Given the description of an element on the screen output the (x, y) to click on. 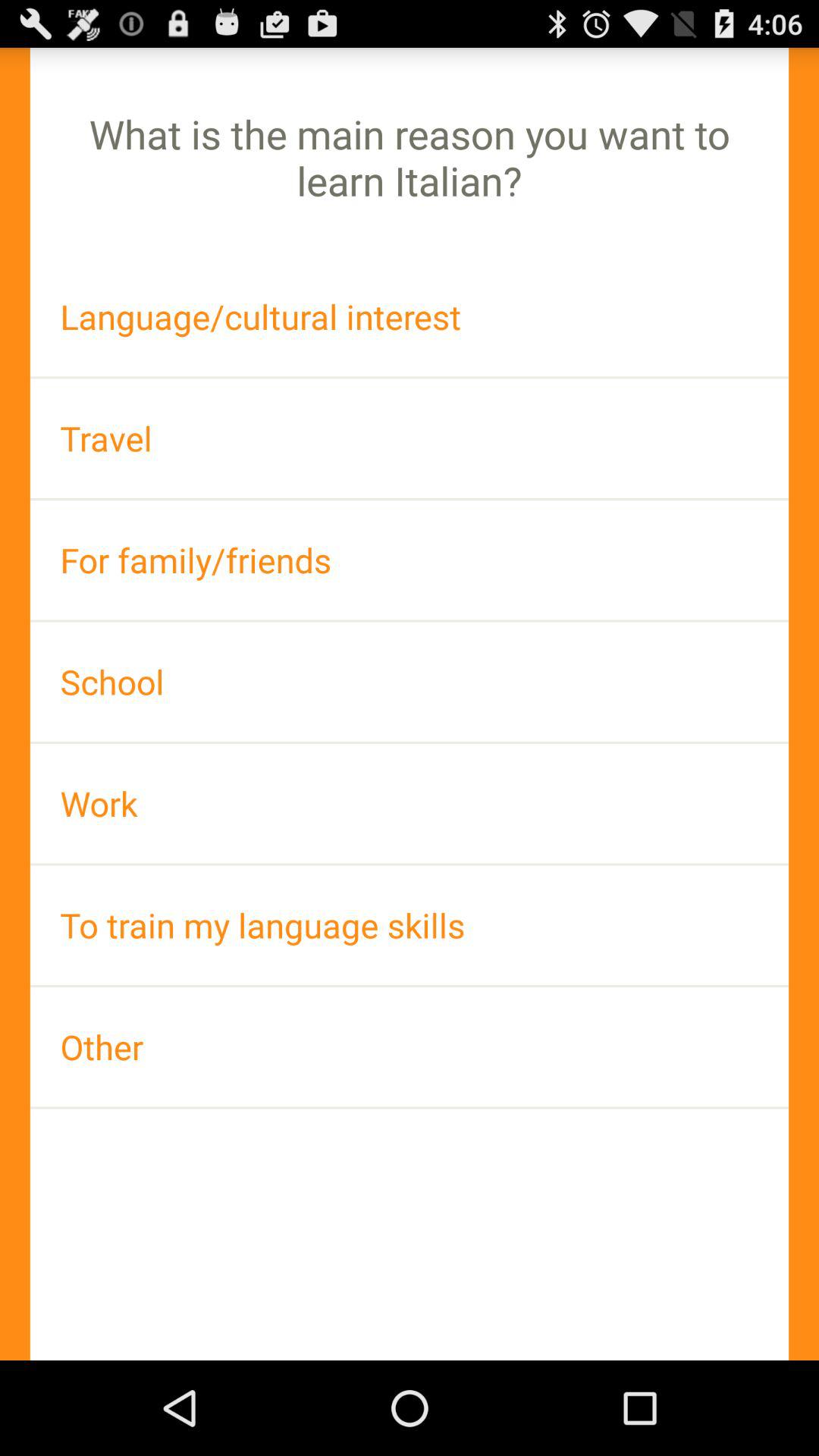
tap for family/friends icon (409, 559)
